Given the description of an element on the screen output the (x, y) to click on. 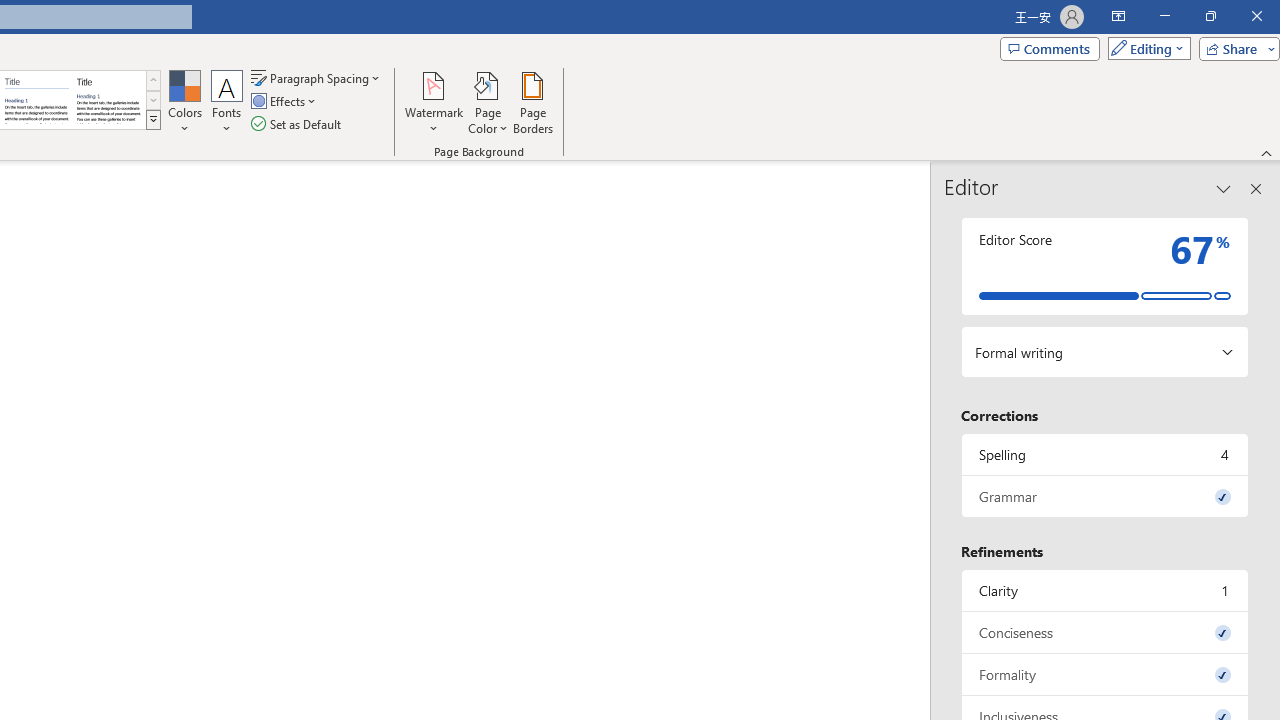
Editor Score 67% (1105, 266)
Word 2013 (108, 100)
